Given the description of an element on the screen output the (x, y) to click on. 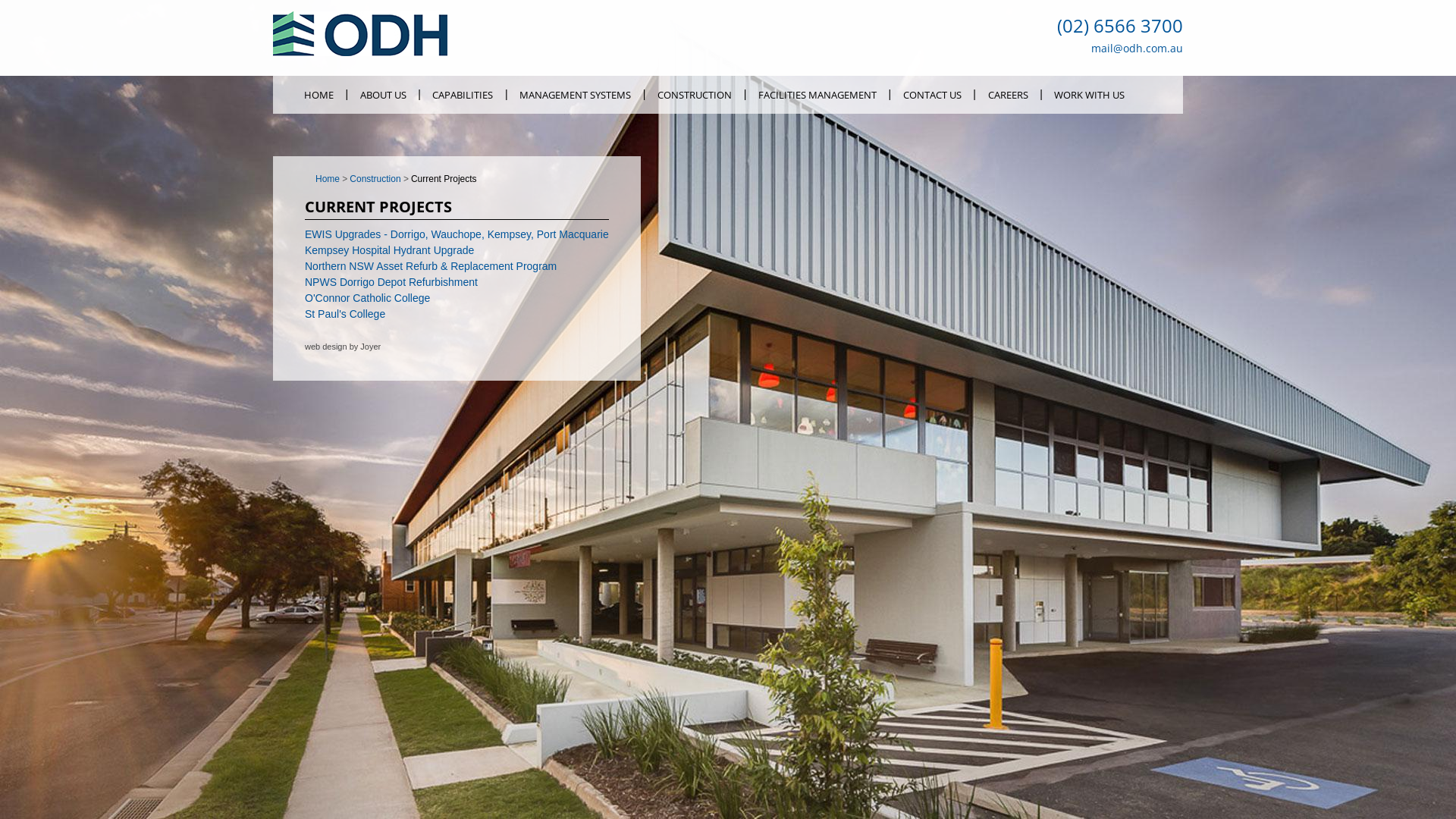
CONSTRUCTION Element type: text (694, 94)
Home Element type: hover (360, 52)
EWIS Upgrades - Dorrigo, Wauchope, Kempsey, Port Macquarie Element type: text (456, 234)
FACILITIES MANAGEMENT Element type: text (817, 94)
Construction Element type: text (380, 178)
HOME Element type: text (318, 94)
web design Element type: text (325, 346)
Northern NSW Asset Refurb & Replacement Program Element type: text (430, 266)
mail@odh.com.au Element type: text (1137, 47)
St Paul's College Element type: text (344, 313)
CAPABILITIES Element type: text (462, 94)
CAREERS Element type: text (1007, 94)
NPWS Dorrigo Depot Refurbishment Element type: text (390, 282)
Skip to main content Element type: text (48, 0)
Joyer Element type: text (370, 346)
ABOUT US Element type: text (382, 94)
CONTACT US Element type: text (931, 94)
WORK WITH US Element type: text (1089, 94)
Home Element type: text (332, 178)
O'Connor Catholic College Element type: text (366, 297)
Kempsey Hospital Hydrant Upgrade Element type: text (388, 250)
MANAGEMENT SYSTEMS Element type: text (575, 94)
